Given the description of an element on the screen output the (x, y) to click on. 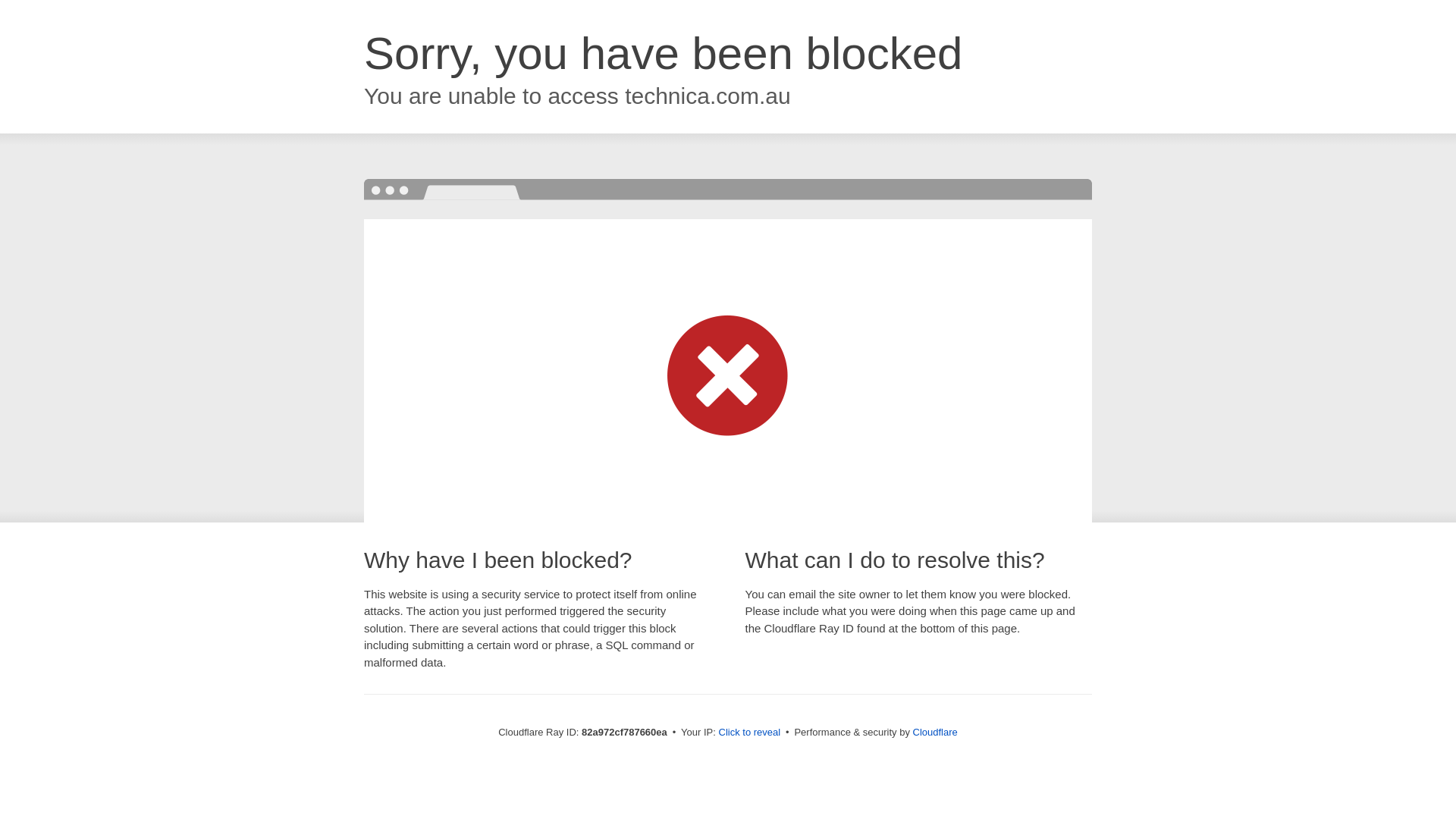
Click to reveal Element type: text (749, 732)
Cloudflare Element type: text (935, 731)
